Given the description of an element on the screen output the (x, y) to click on. 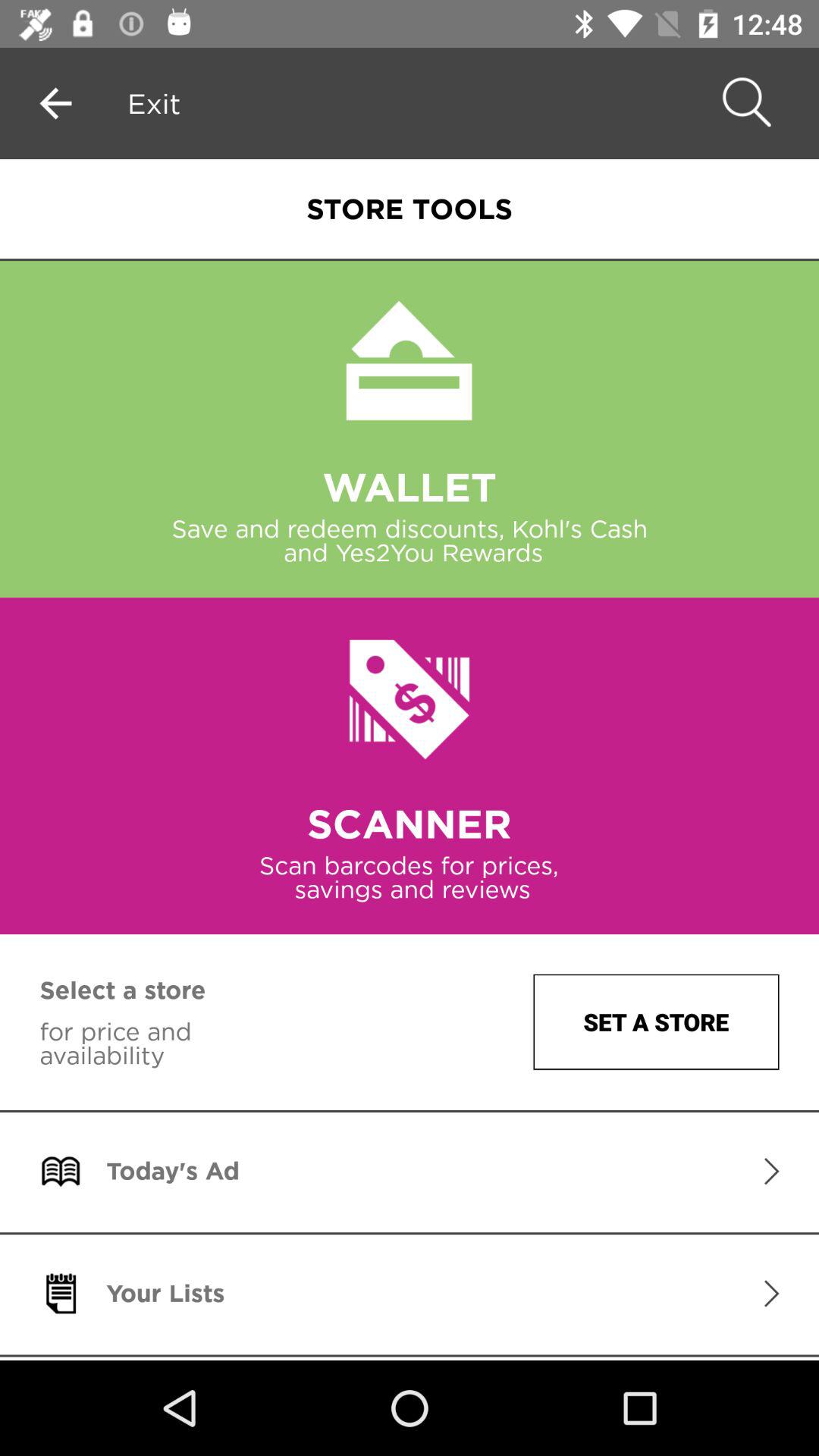
launch the item next to store tools icon (153, 103)
